Given the description of an element on the screen output the (x, y) to click on. 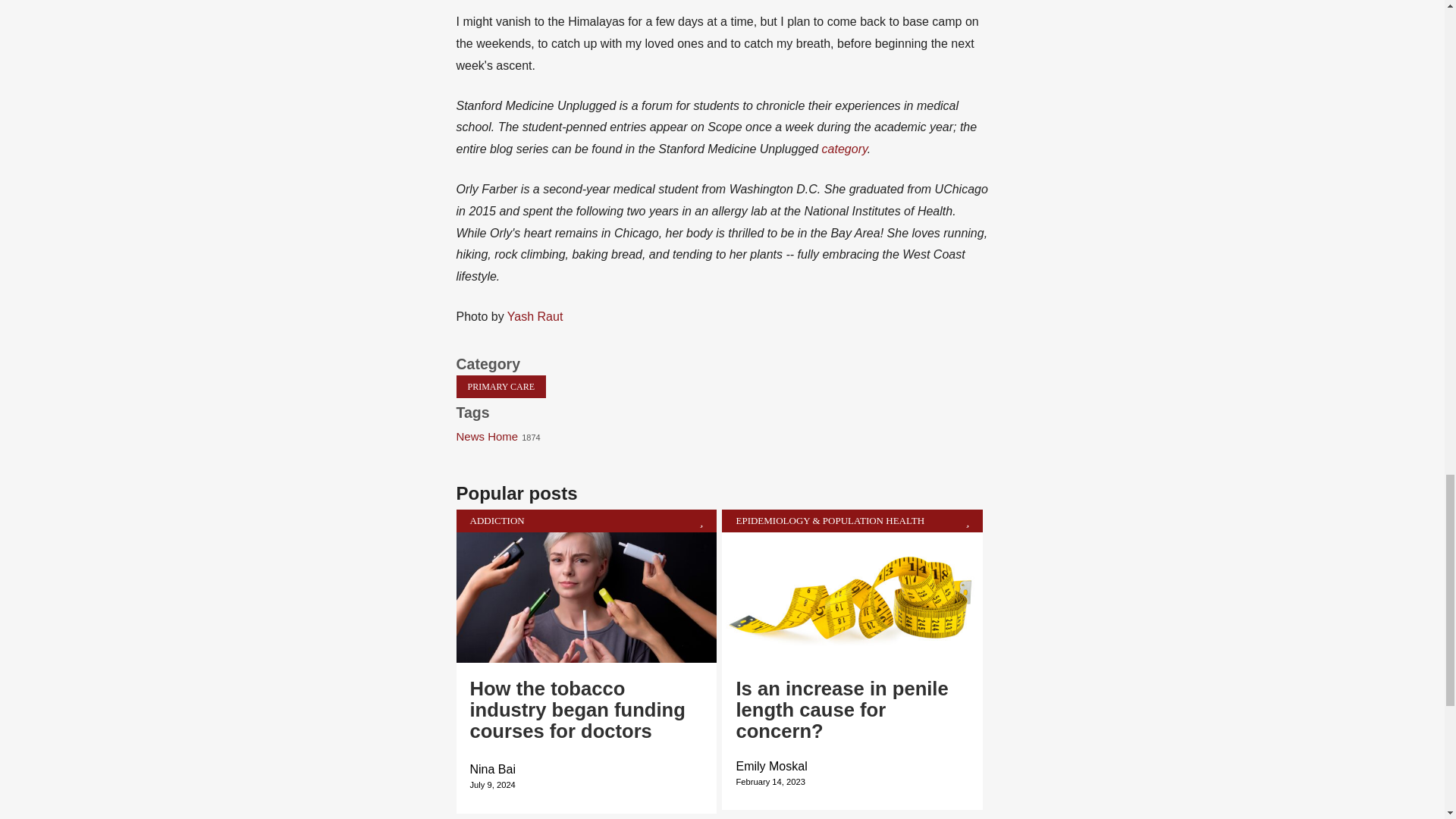
Nina Bai (492, 768)
Emily Moskal (770, 766)
category (844, 148)
News Home1874 (504, 436)
Is an increase in penile length cause for concern? (841, 710)
PRIMARY CARE (502, 386)
How the tobacco industry began funding courses for doctors (577, 710)
Yash Raut (534, 316)
